Given the description of an element on the screen output the (x, y) to click on. 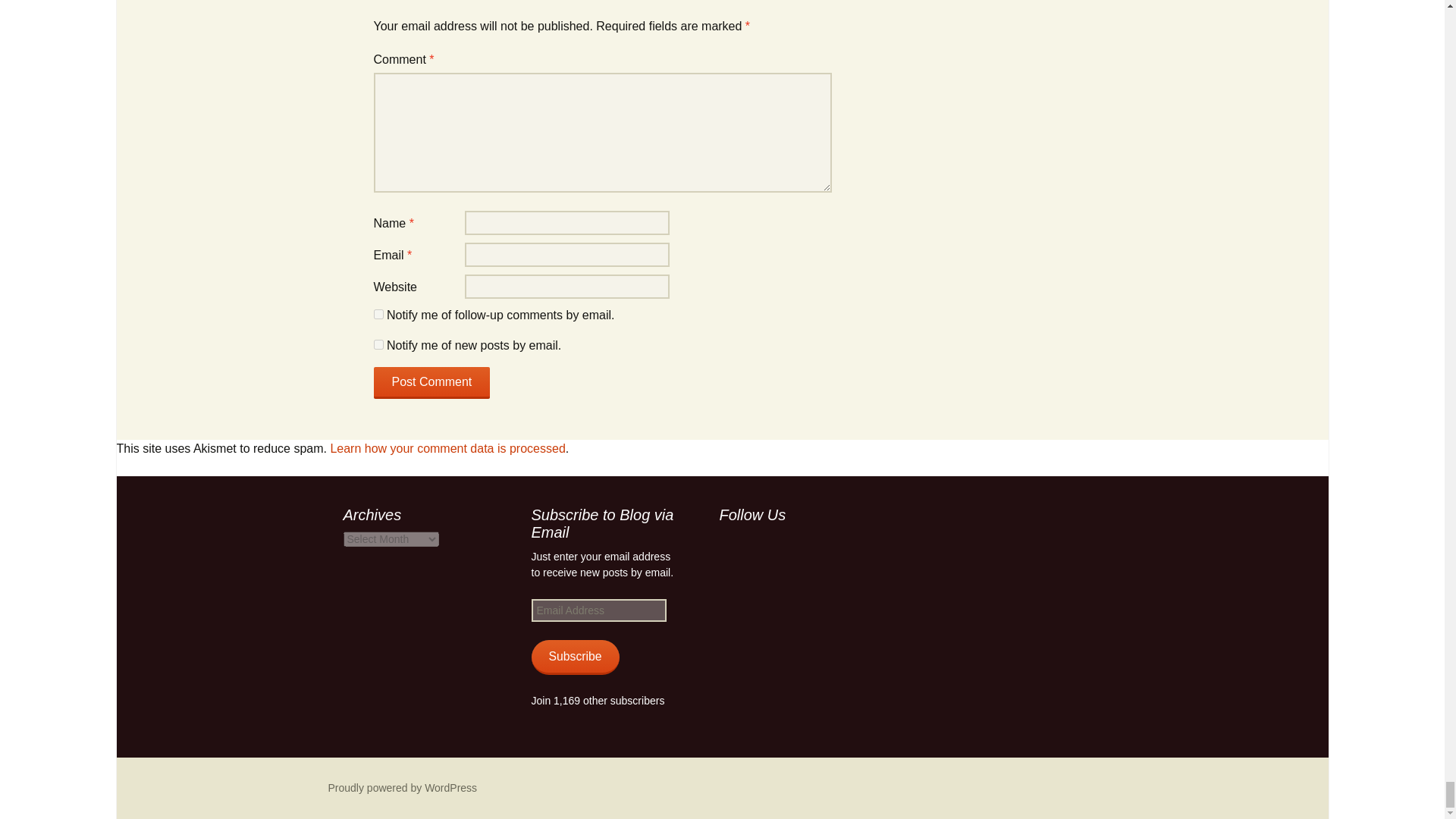
subscribe (377, 314)
Post Comment (430, 382)
subscribe (377, 344)
